Given the description of an element on the screen output the (x, y) to click on. 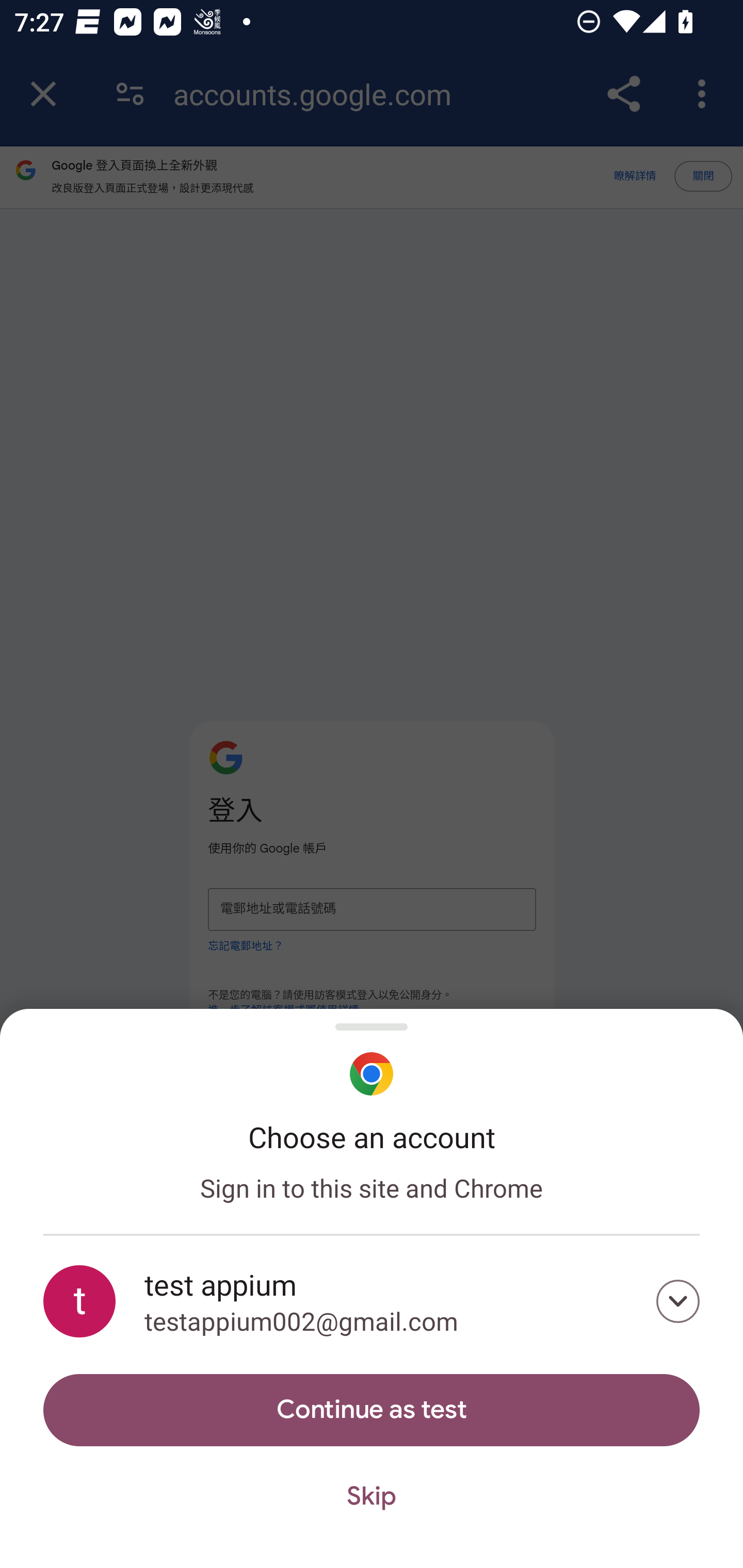
Continue as test (371, 1410)
Skip (371, 1496)
